Given the description of an element on the screen output the (x, y) to click on. 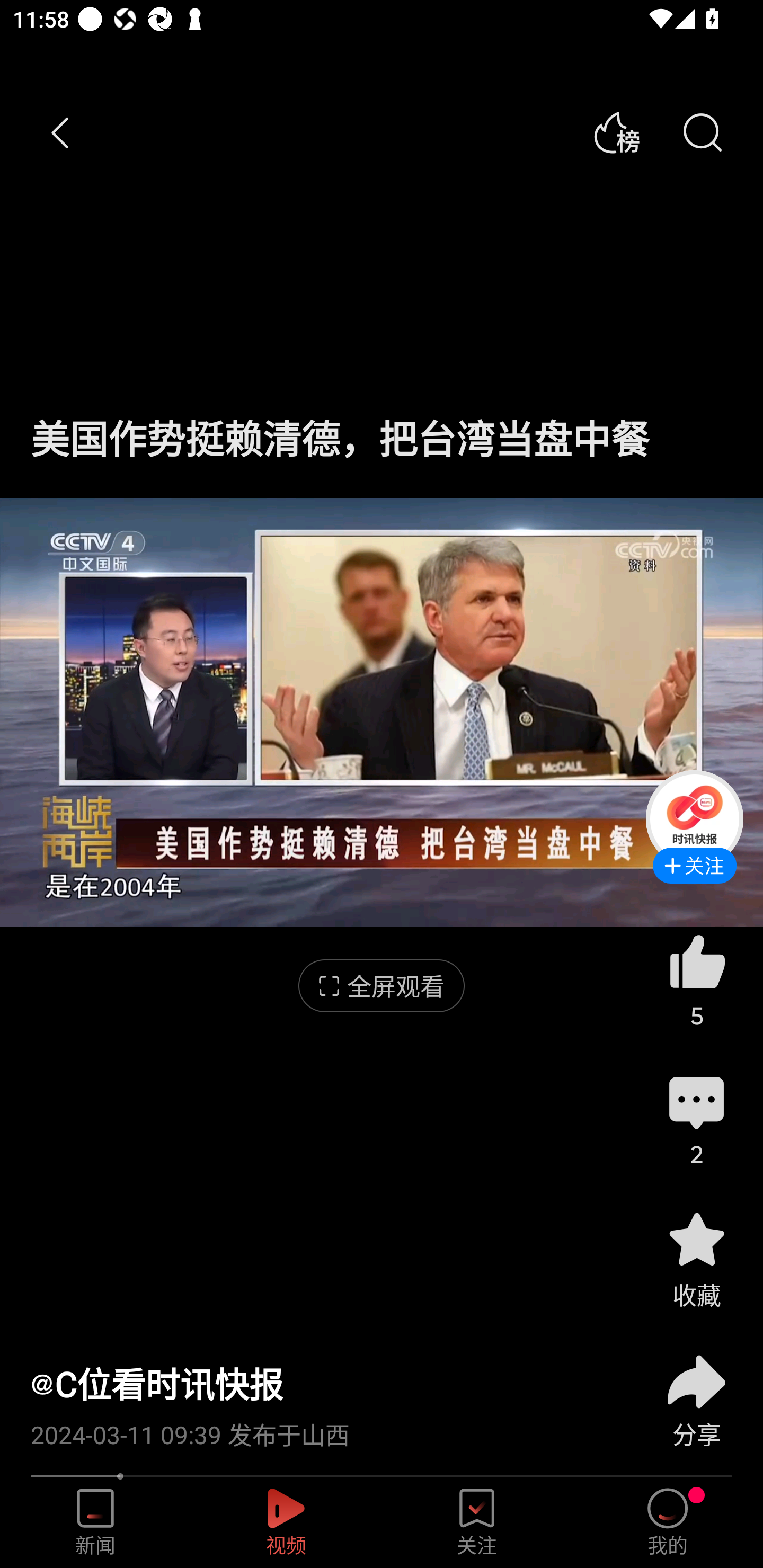
 返回 (60, 133)
 热榜 (616, 133)
 搜索 (701, 133)
赞 5 (696, 979)
全屏观看 (381, 985)
评论  2 (696, 1118)
收藏 (696, 1258)
分享  分享 (696, 1389)
C位看时讯快报 (156, 1383)
2024-03-11 09:39 发布于山西 (321, 1428)
